Given the description of an element on the screen output the (x, y) to click on. 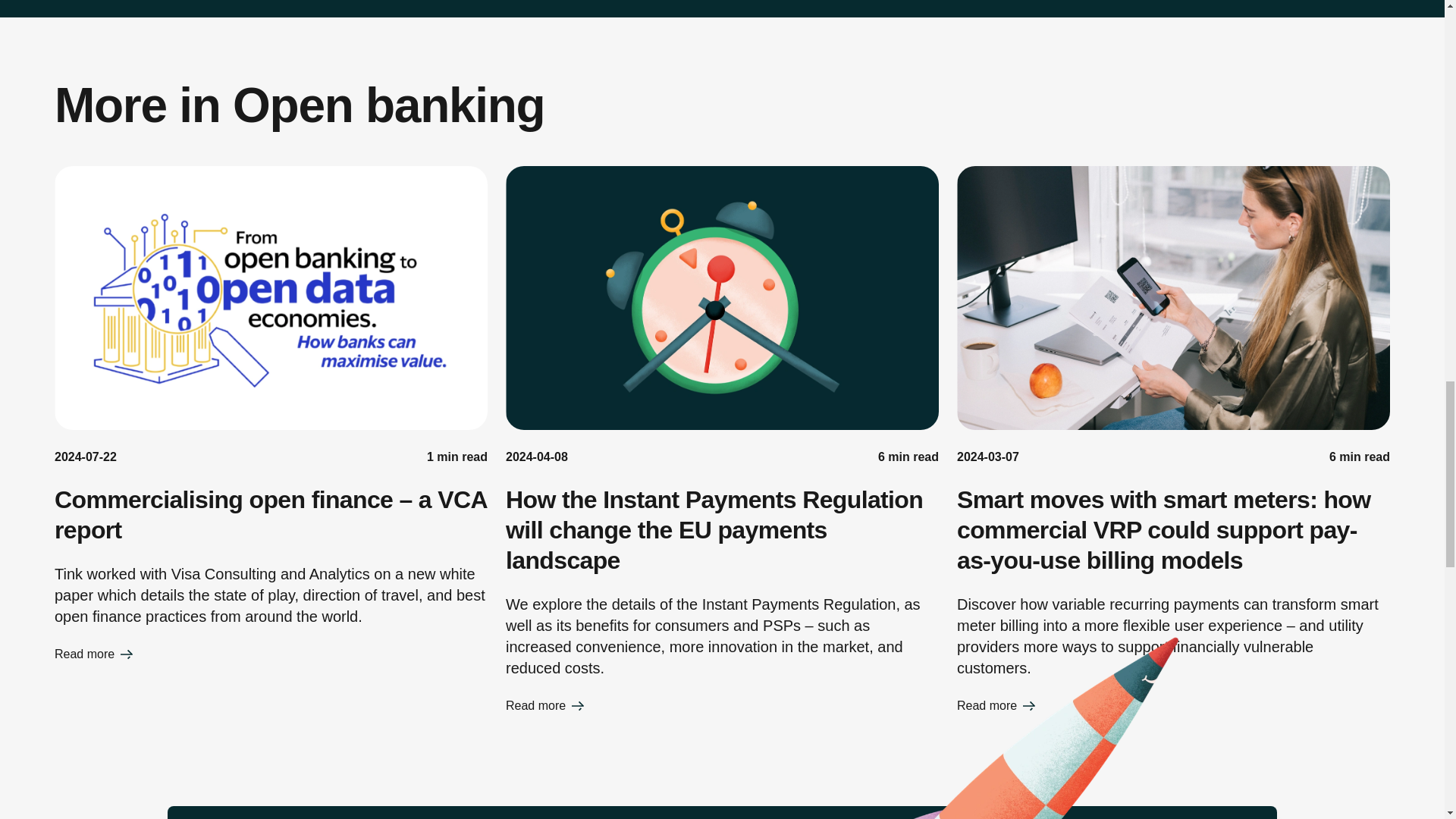
Read more (722, 705)
Read more (271, 654)
Read more (1173, 705)
